Given the description of an element on the screen output the (x, y) to click on. 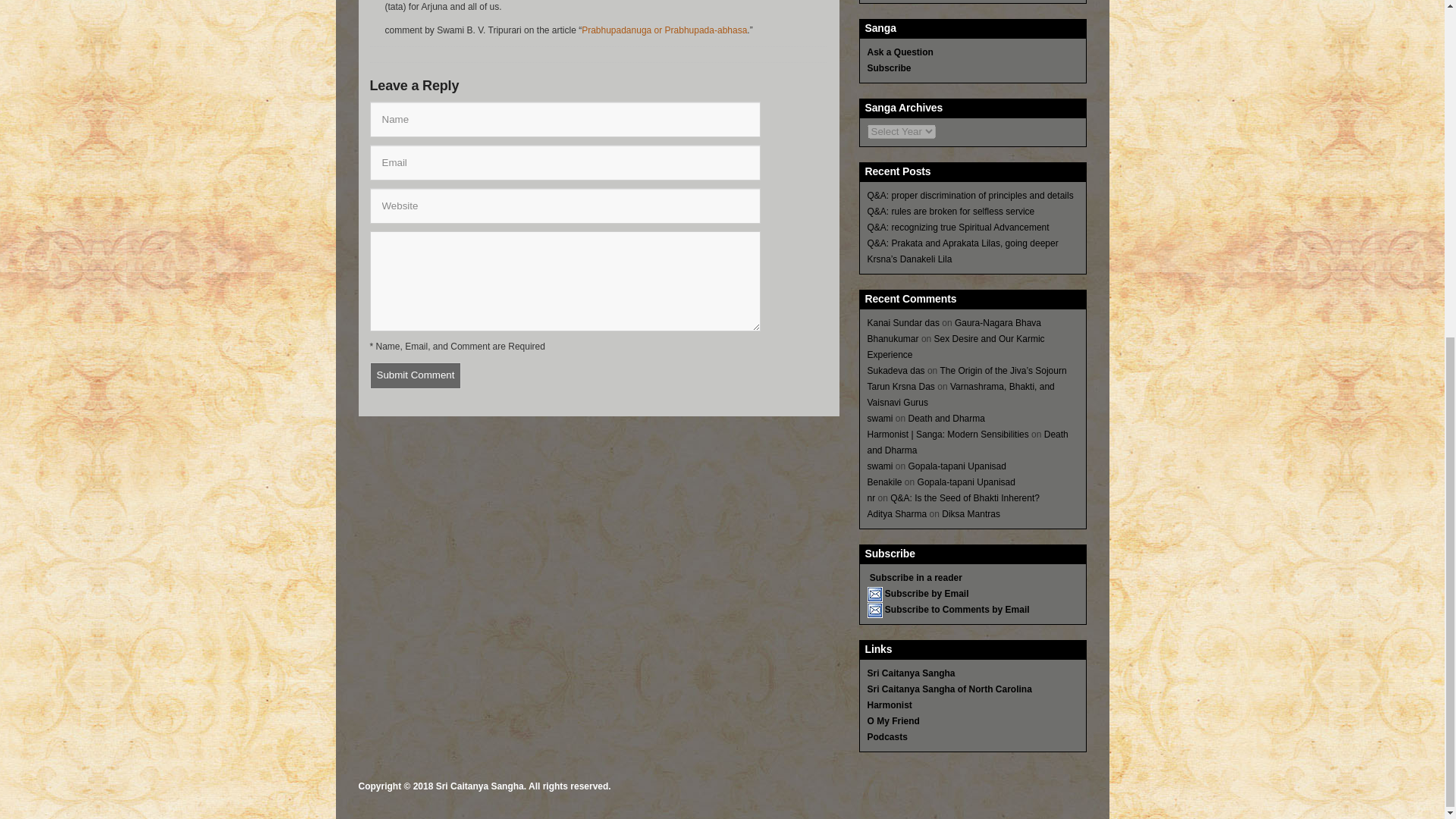
Name (564, 119)
Prabhupadanuga or Prabhupada-abhasa (663, 30)
Ask a Question (900, 51)
Submit Comment (415, 375)
Submit Comment (415, 375)
Subscribe (889, 68)
Website (564, 205)
Email (564, 162)
